Given the description of an element on the screen output the (x, y) to click on. 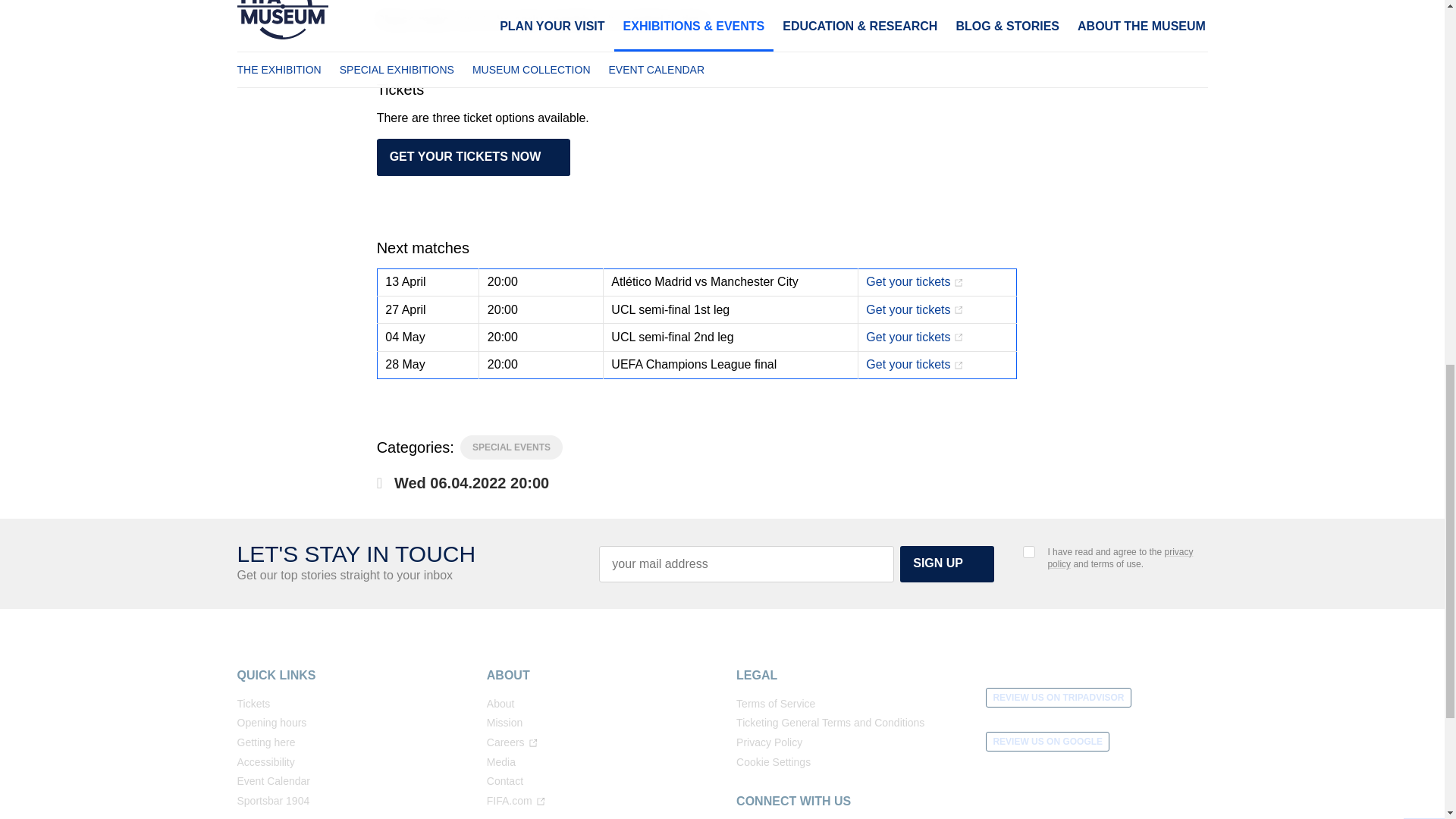
ja (1029, 551)
